Given the description of an element on the screen output the (x, y) to click on. 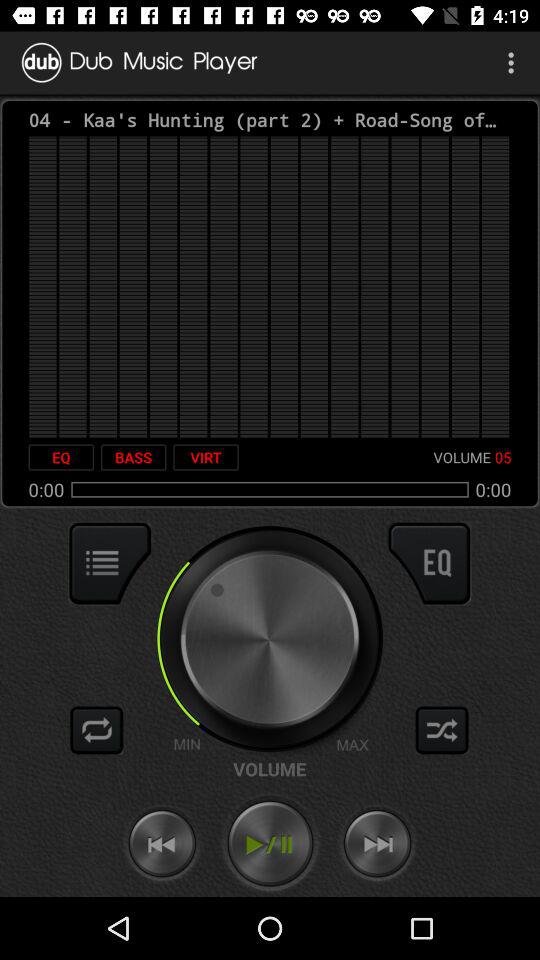
shuffle play (442, 730)
